Given the description of an element on the screen output the (x, y) to click on. 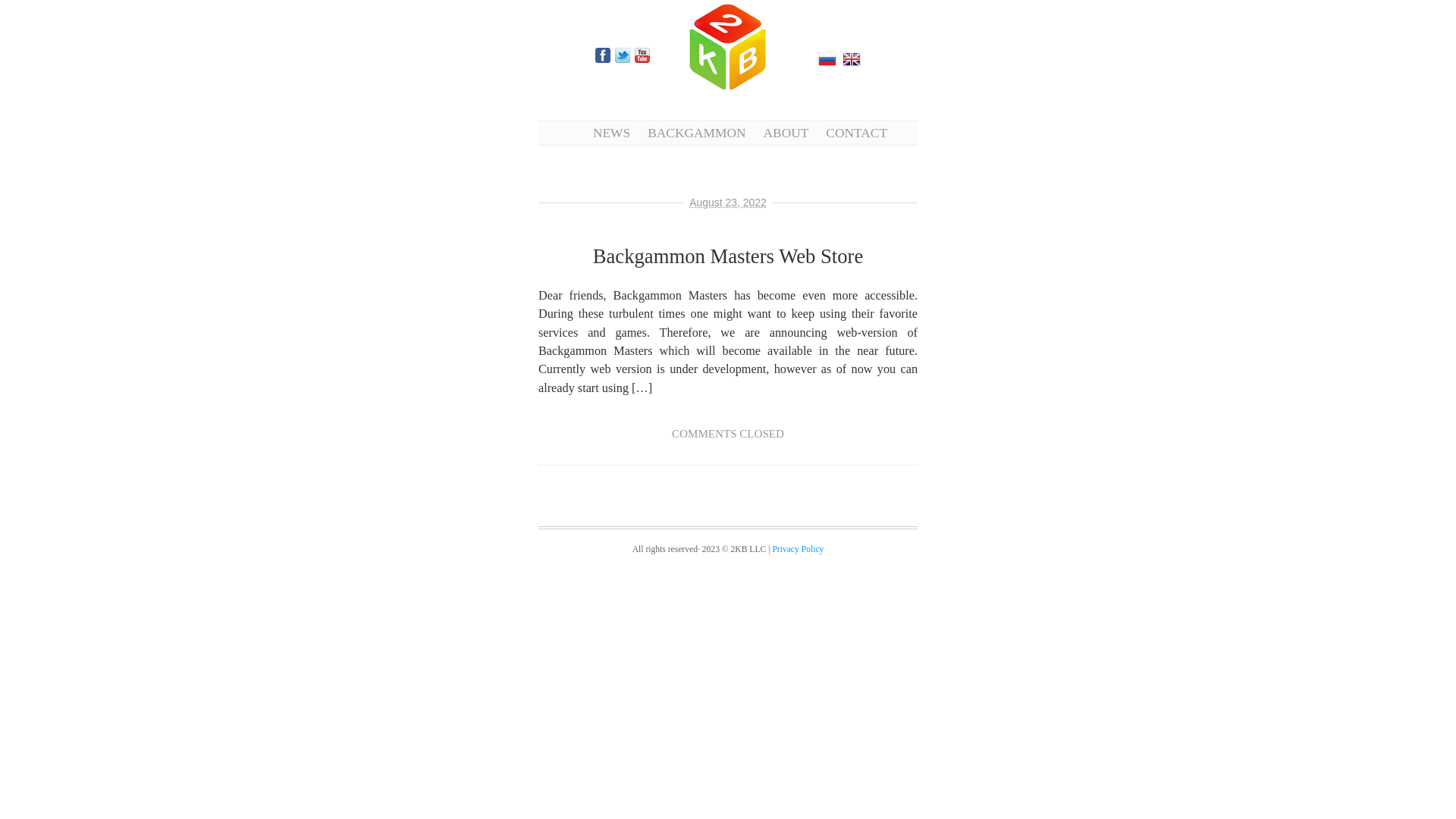
Twitter Element type: hover (622, 54)
Youtube Element type: hover (641, 54)
ABOUT Element type: text (786, 132)
NEWS Element type: text (611, 132)
CONTACT Element type: text (856, 132)
Facebook Element type: hover (602, 54)
Privacy Policy Element type: text (797, 549)
Backgammon Masters Web Store Element type: text (728, 255)
Russian Element type: hover (827, 59)
BACKGAMMON Element type: text (696, 132)
English Element type: hover (851, 59)
